Given the description of an element on the screen output the (x, y) to click on. 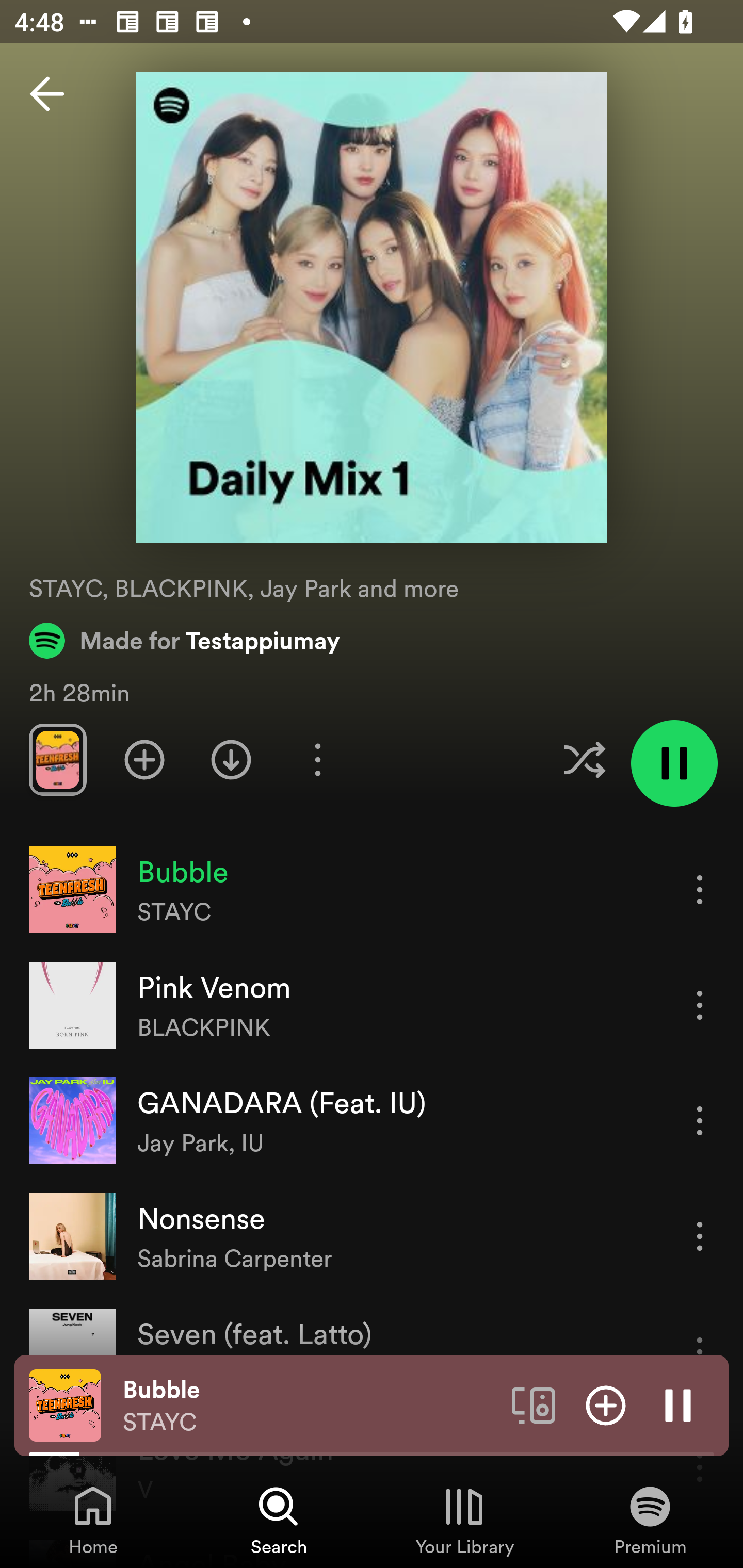
Back (46, 93)
Made for Testappiumay (184, 640)
Swipe through previews of tracks in this playlist. (57, 759)
Add playlist to Your Library (144, 759)
Download (230, 759)
More options for playlist Daily Mix 1 (317, 759)
Enable shuffle for this playlist (583, 759)
Pause playlist (674, 763)
Bubble STAYC More options for song Bubble (371, 889)
More options for song Bubble (699, 889)
More options for song Pink Venom (699, 1004)
More options for song GANADARA (Feat. IU) (699, 1120)
More options for song Nonsense (699, 1236)
Bubble STAYC (309, 1405)
The cover art of the currently playing track (64, 1404)
Connect to a device. Opens the devices menu (533, 1404)
Add item (605, 1404)
Pause (677, 1404)
Home, Tab 1 of 4 Home Home (92, 1519)
Search, Tab 2 of 4 Search Search (278, 1519)
Your Library, Tab 3 of 4 Your Library Your Library (464, 1519)
Premium, Tab 4 of 4 Premium Premium (650, 1519)
